Given the description of an element on the screen output the (x, y) to click on. 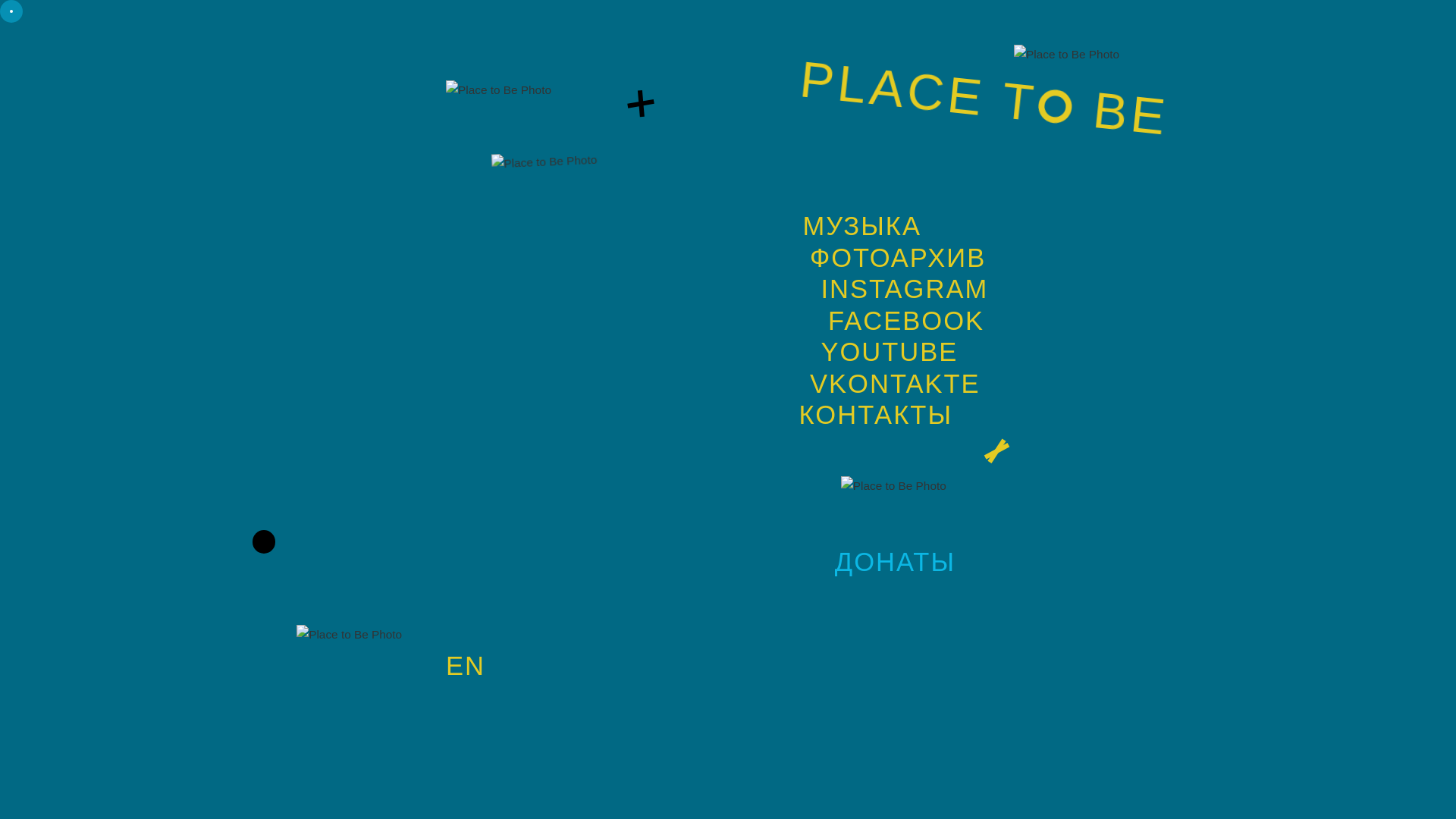
FACEBOOK Element type: text (906, 320)
VKONTAKTE Element type: text (894, 383)
INSTAGRAM Element type: text (904, 288)
YOUTUBE Element type: text (888, 351)
EN Element type: text (465, 665)
